Given the description of an element on the screen output the (x, y) to click on. 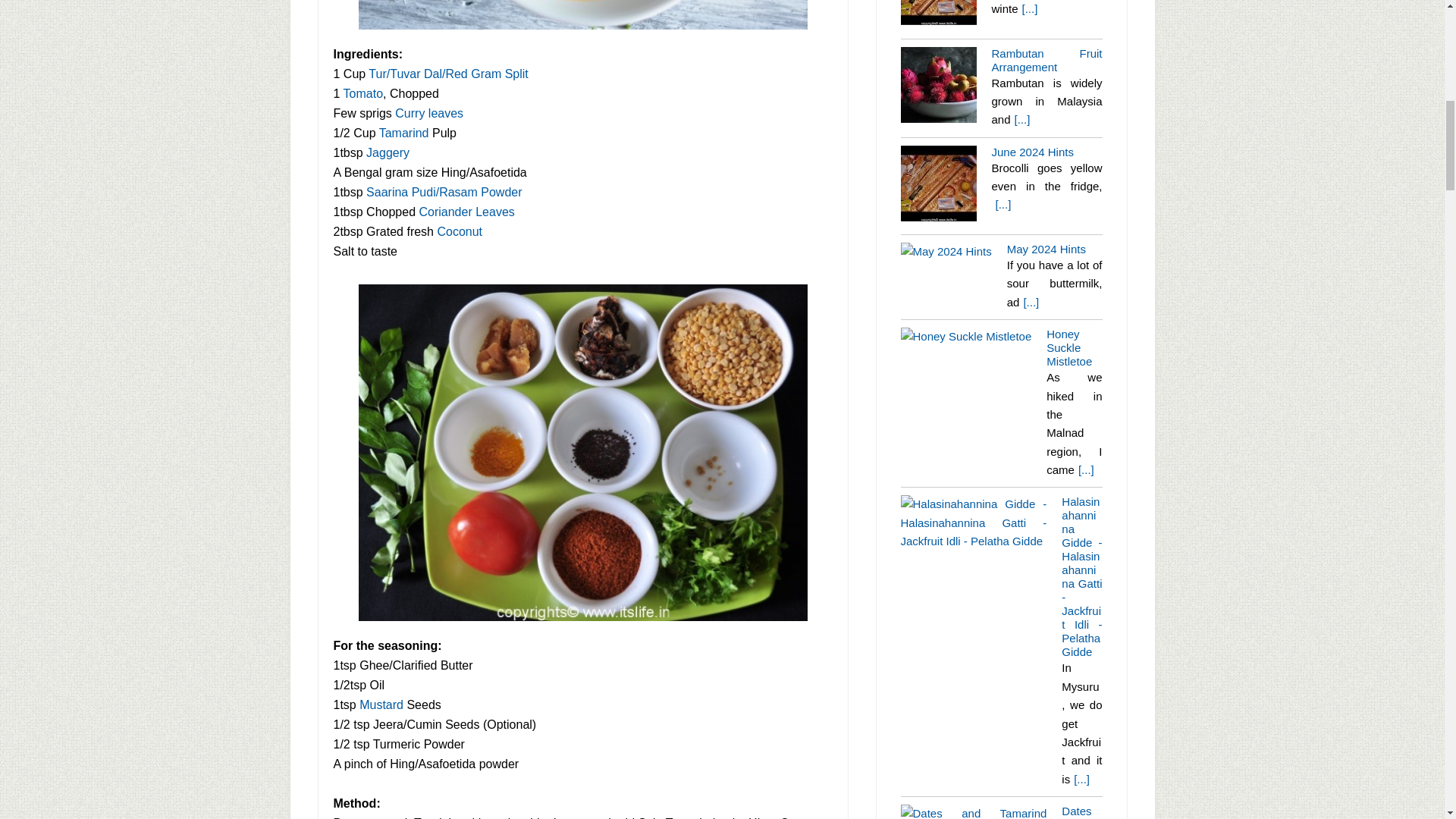
Curry leaves (428, 112)
Mustard (381, 703)
Jaggery (387, 151)
Recipe for Saarina Pudi (443, 191)
Coriander Leaves (466, 210)
Coconut (458, 230)
Tomato (362, 92)
Saaru Recipe (582, 15)
Tamarind (403, 132)
